Given the description of an element on the screen output the (x, y) to click on. 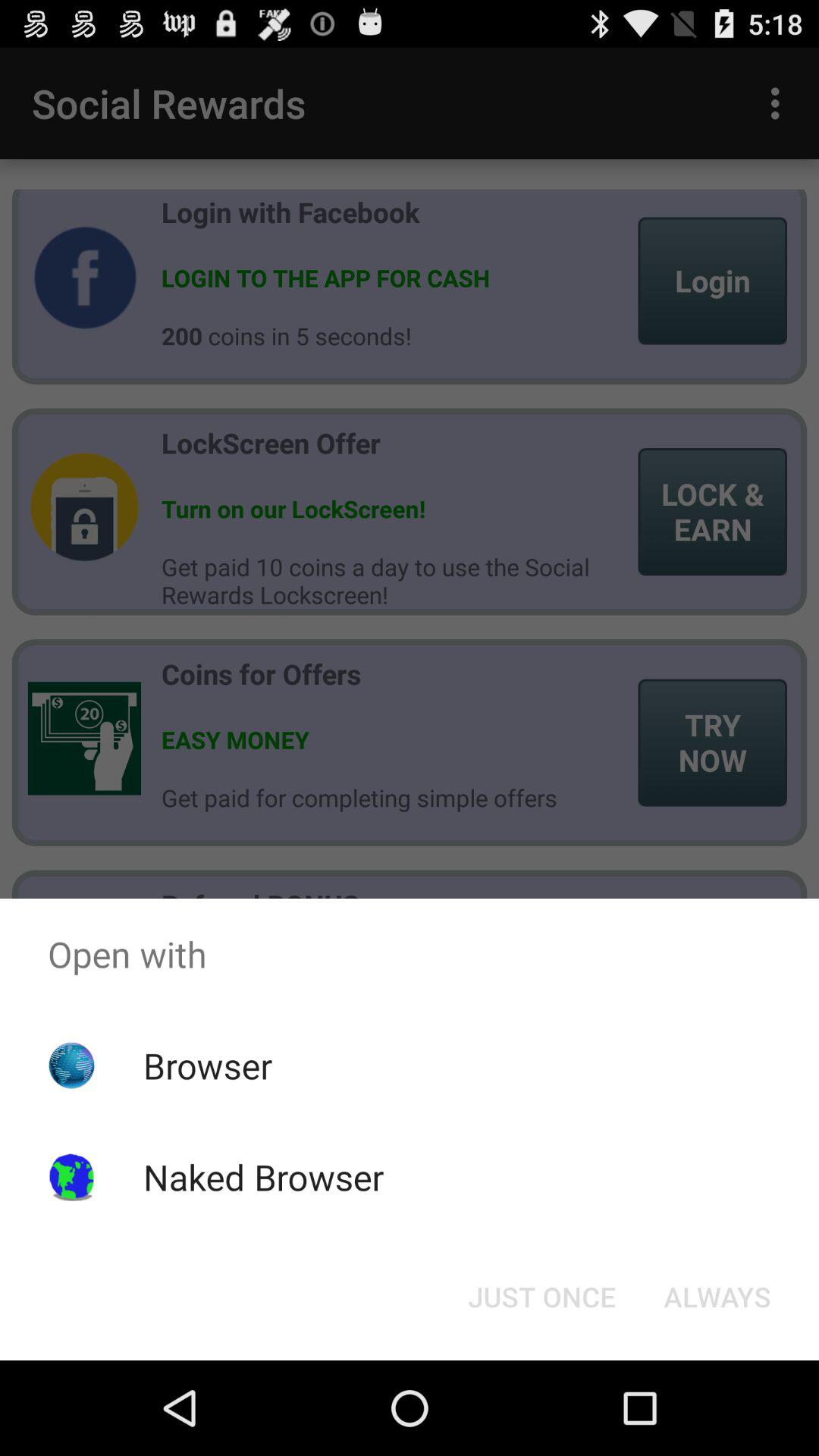
choose the item next to the always item (541, 1296)
